Given the description of an element on the screen output the (x, y) to click on. 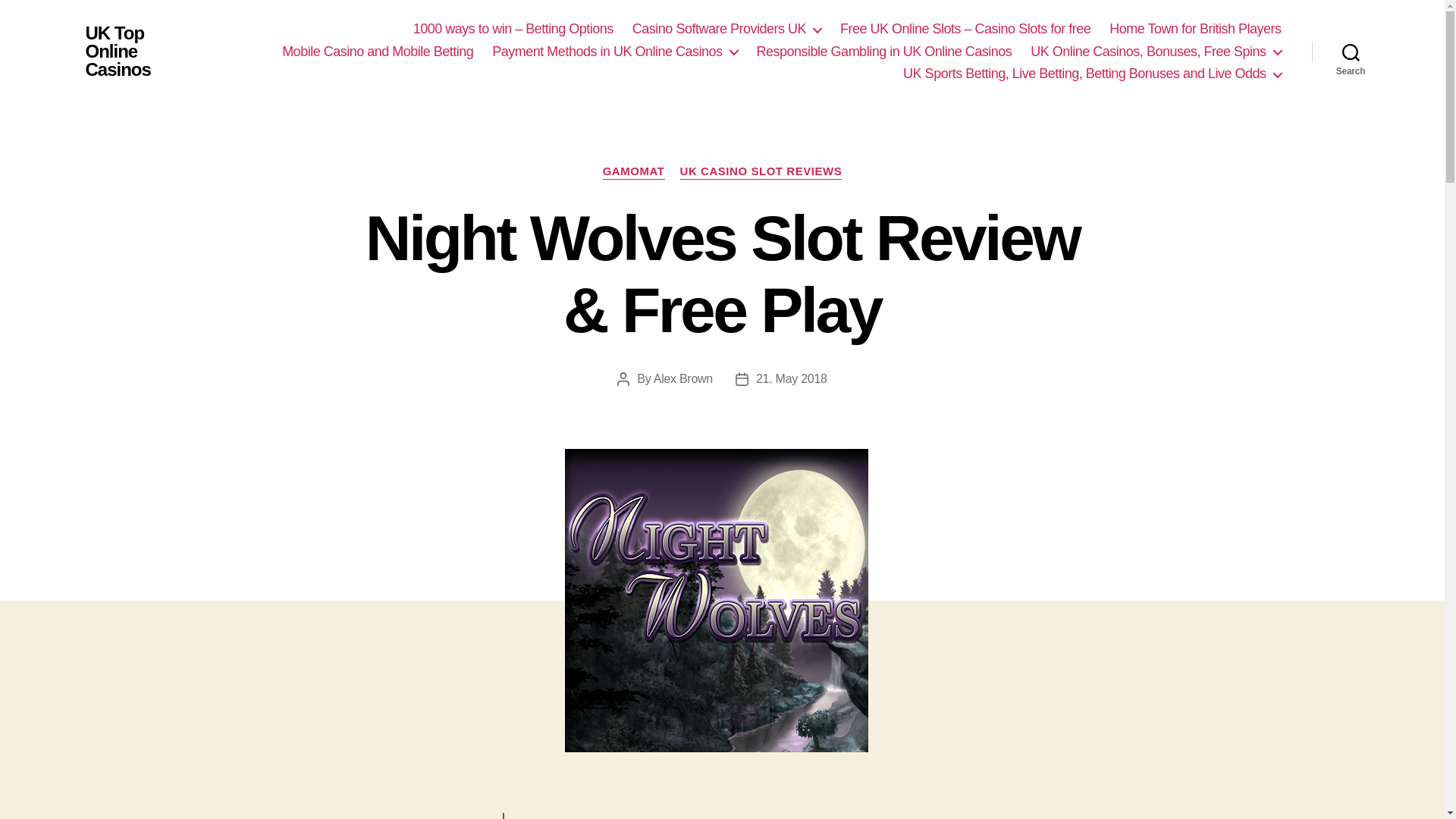
Casino Software Providers UK (726, 29)
Payment Methods in UK Online Casinos (614, 52)
UK Online Casinos, Bonuses, Free Spins (1155, 52)
UK Top Online Casinos (129, 51)
Home Town for British Players (1195, 29)
Mobile Casino and Mobile Betting (377, 52)
Responsible Gambling in UK Online Casinos (884, 52)
